Given the description of an element on the screen output the (x, y) to click on. 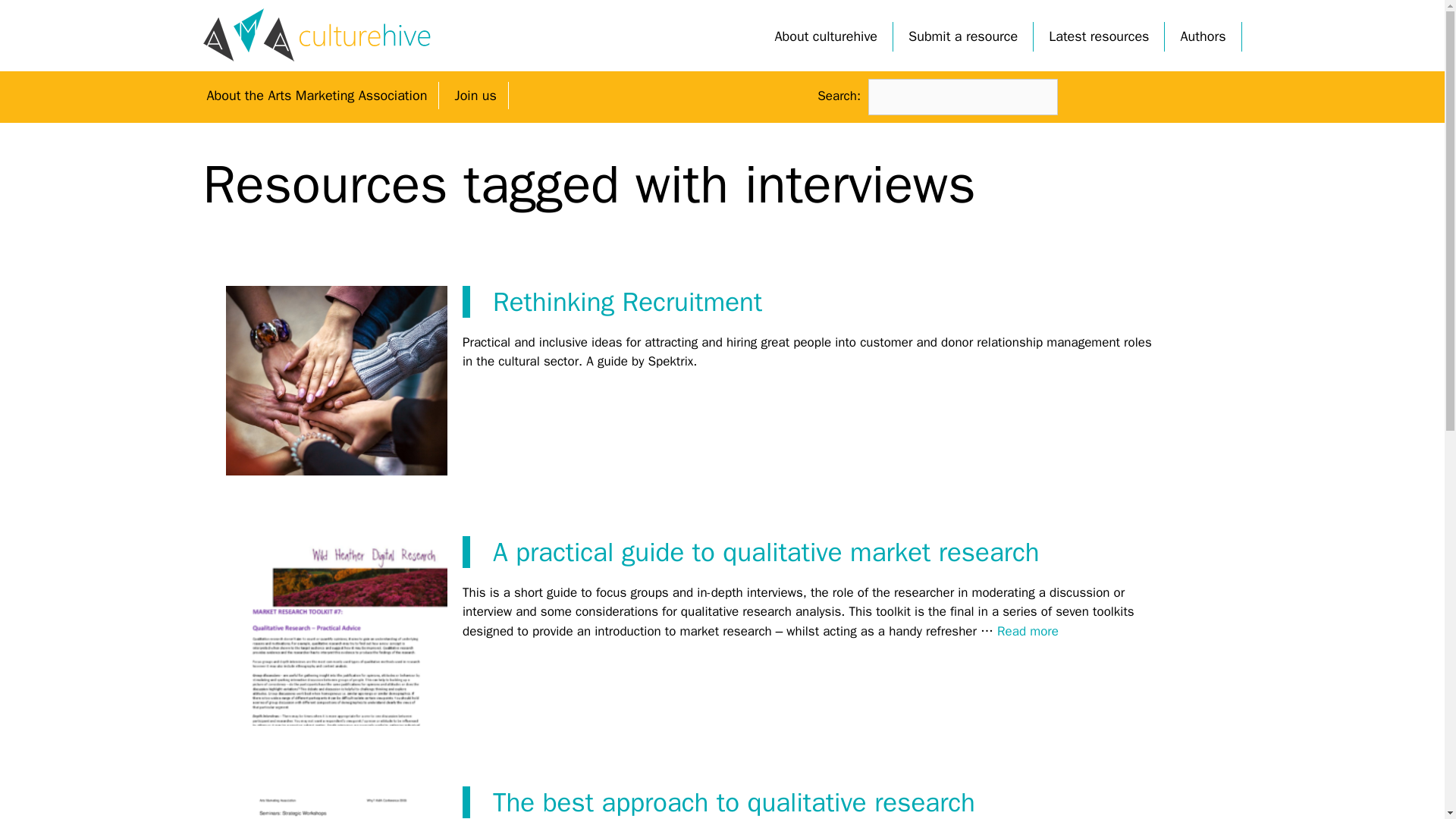
CultureHive (316, 34)
The best approach to qualitative research (734, 802)
CultureHive (316, 35)
Authors (1202, 36)
Join us (475, 94)
Rethinking Recruitment (627, 301)
About culturehive (826, 36)
About the Arts Marketing Association (317, 94)
A practical guide to qualitative market research (1027, 631)
Latest resources (1098, 36)
Read more (1027, 631)
A practical guide to qualitative market research (766, 551)
Submit a resource (962, 36)
